Given the description of an element on the screen output the (x, y) to click on. 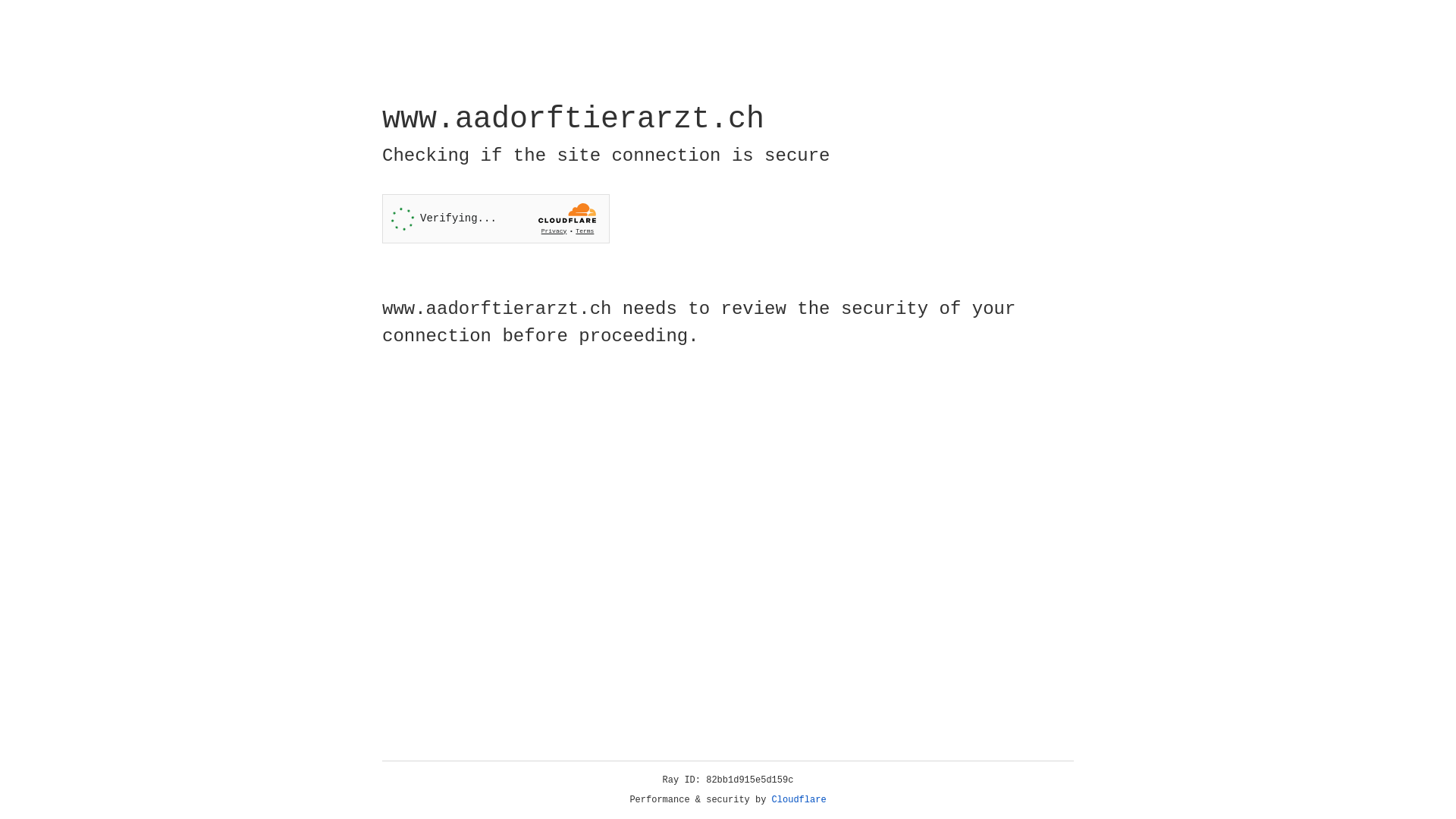
Cloudflare Element type: text (798, 799)
Widget containing a Cloudflare security challenge Element type: hover (495, 218)
